Given the description of an element on the screen output the (x, y) to click on. 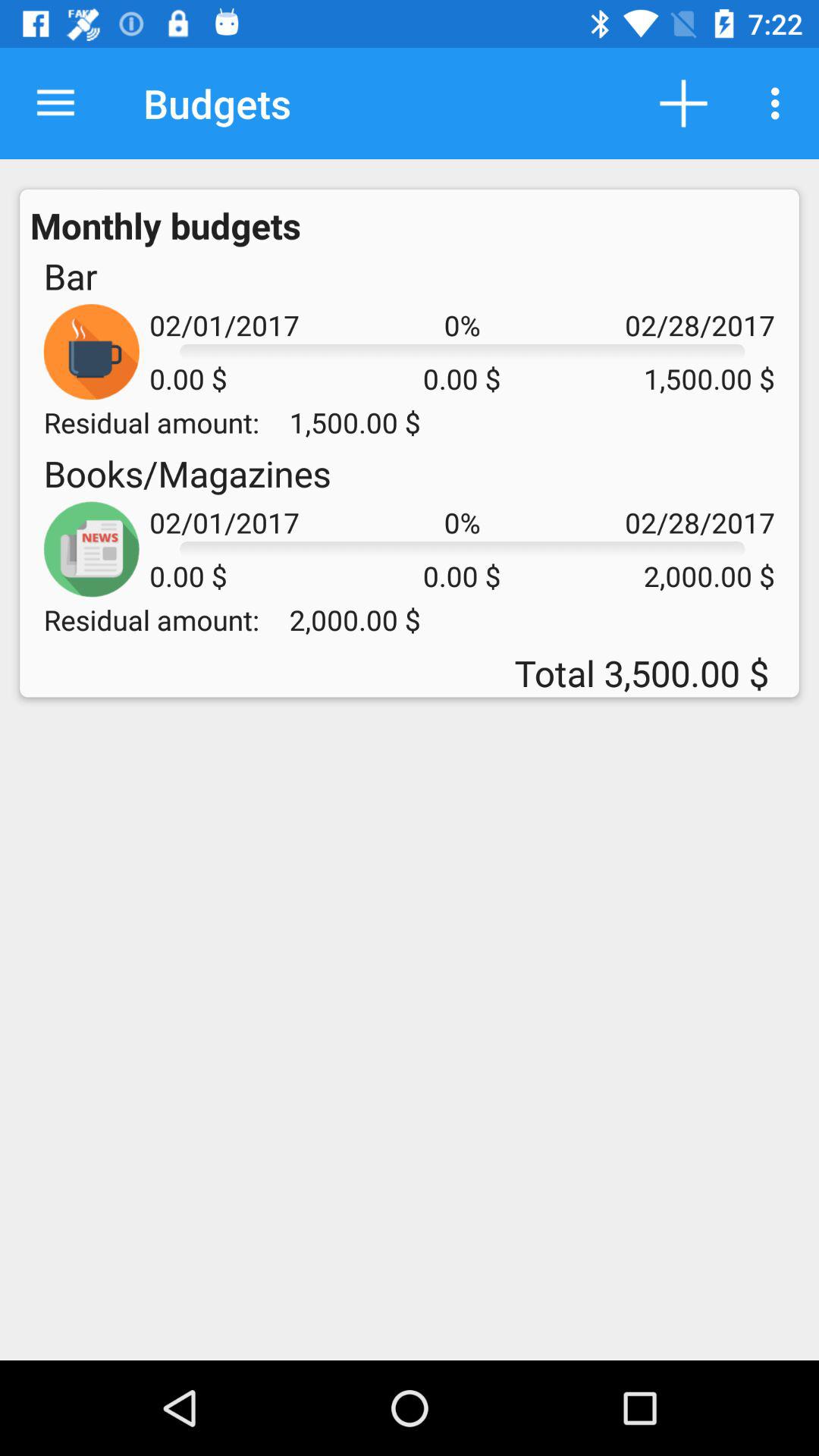
launch icon next to 02/01/2017 item (70, 275)
